Given the description of an element on the screen output the (x, y) to click on. 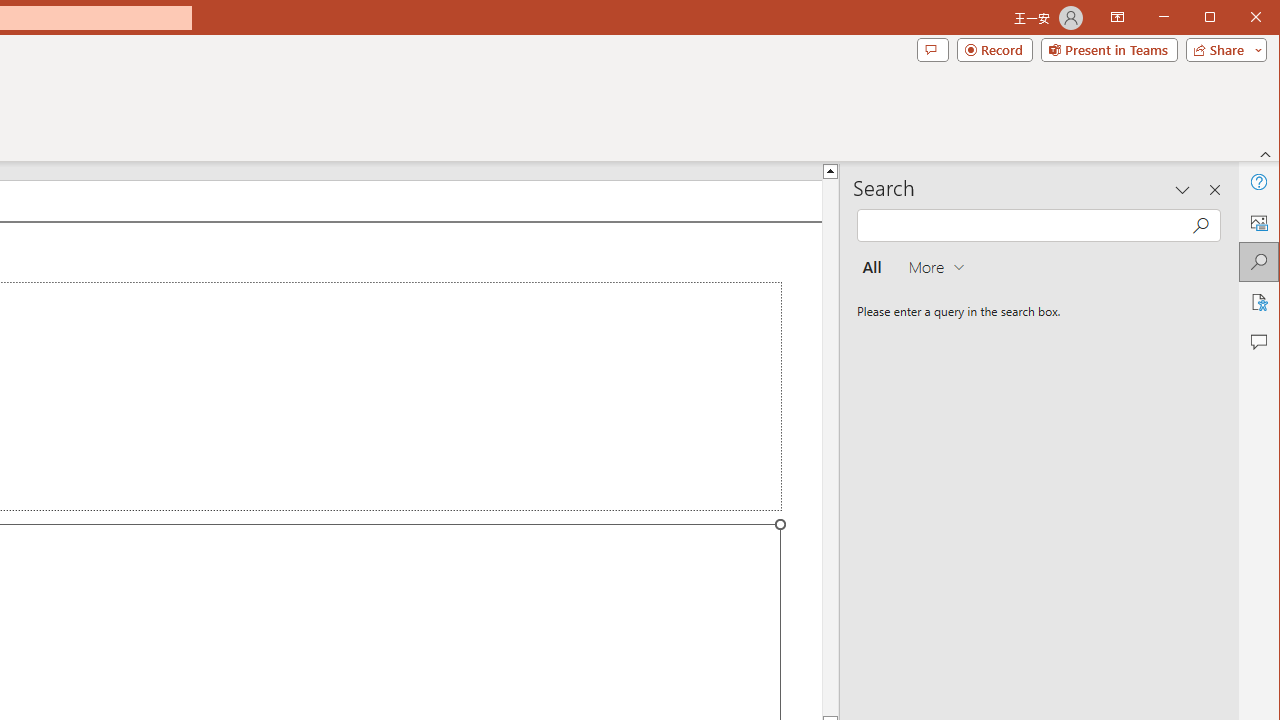
Alt Text (1258, 221)
Search (1258, 261)
Close pane (1215, 189)
Maximize (1238, 18)
